Given the description of an element on the screen output the (x, y) to click on. 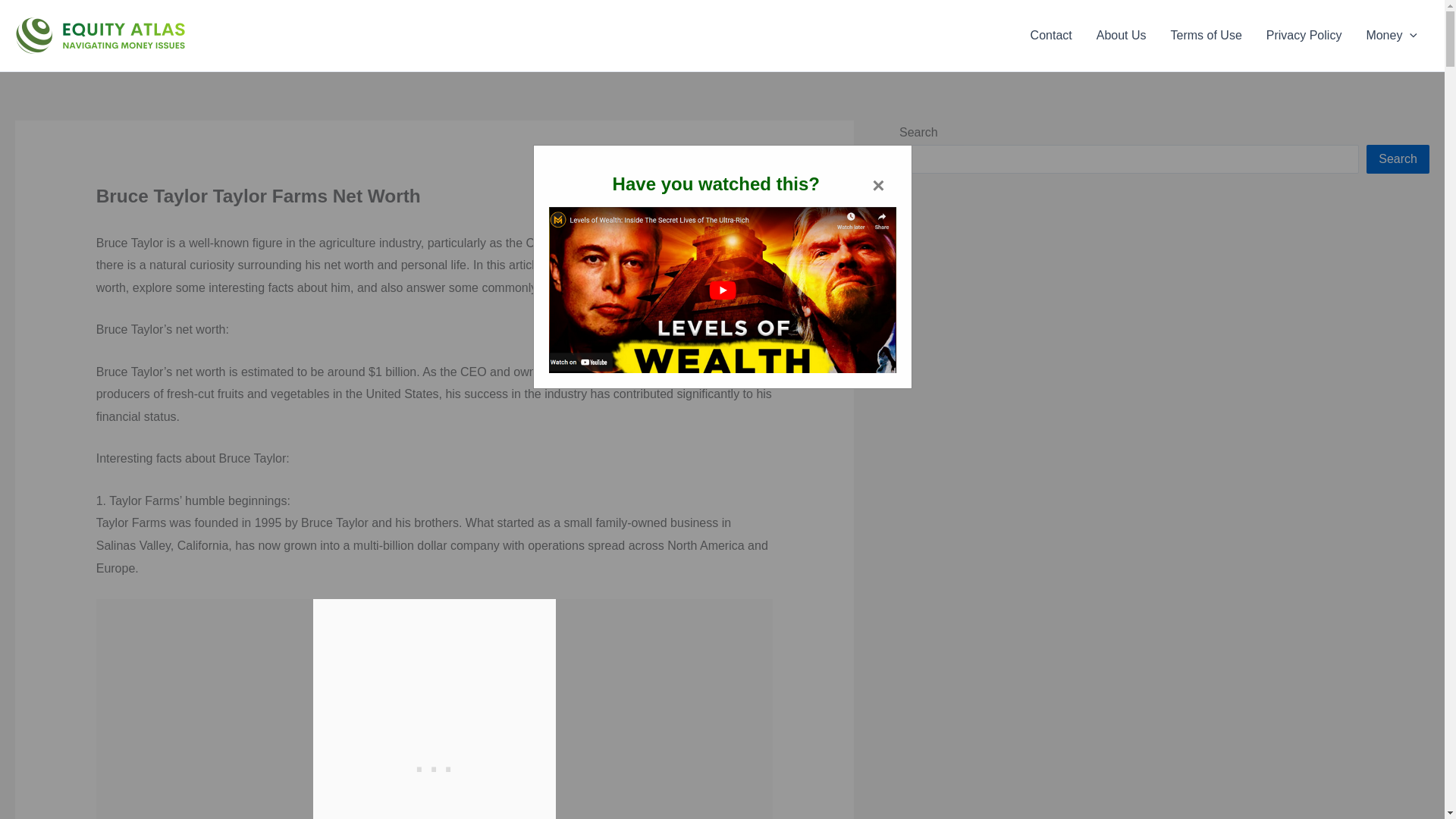
Privacy Policy (1303, 35)
About Us (1121, 35)
Equity Atlas (211, 34)
Money (1391, 35)
Contact (1050, 35)
Terms of Use (1205, 35)
